Given the description of an element on the screen output the (x, y) to click on. 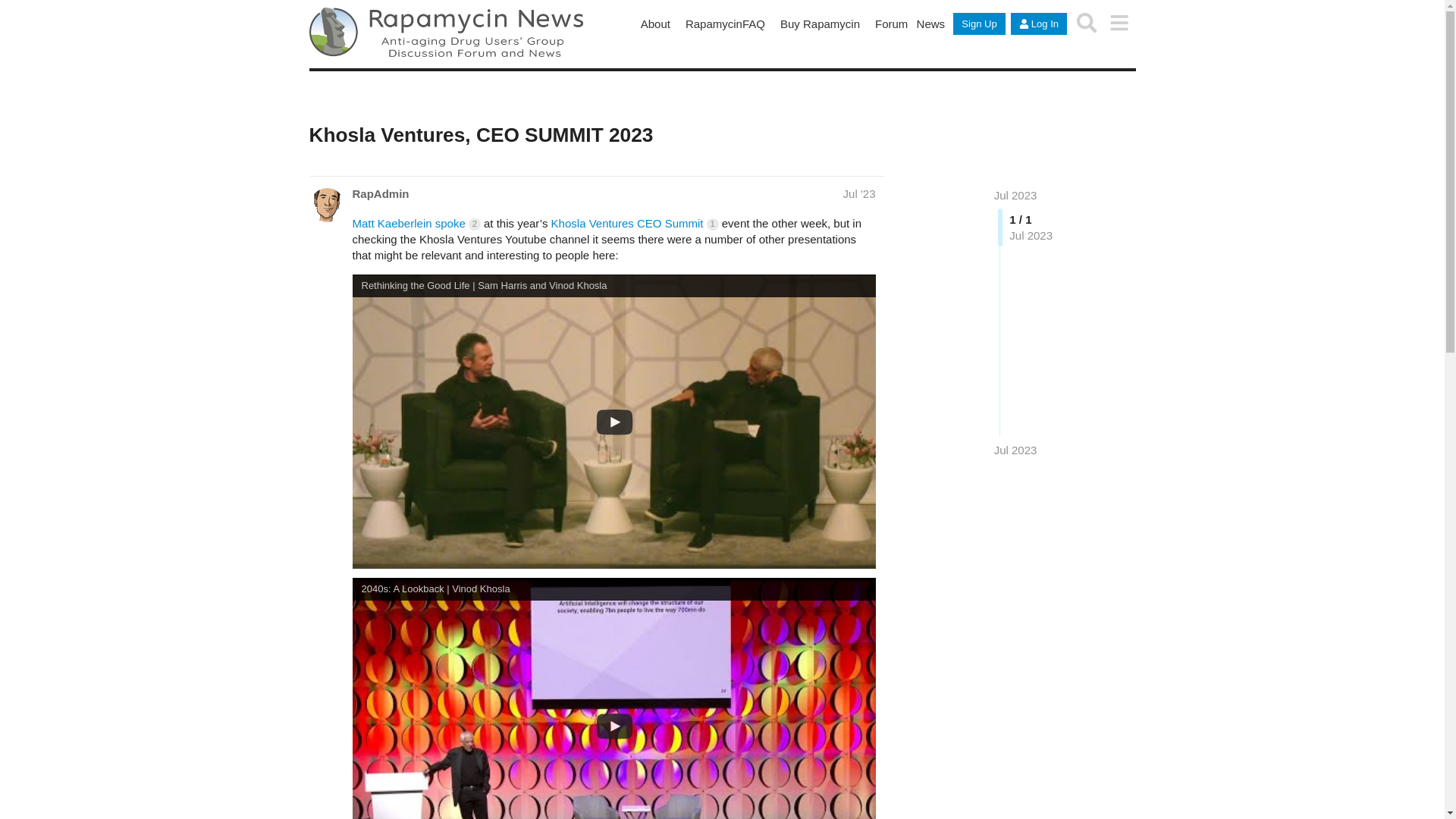
RapAdmin (380, 193)
Forum (891, 24)
Buy Rapamycin (820, 24)
News (929, 23)
News (929, 23)
Jul 2023 (1015, 449)
Jul 2023 (1015, 195)
Khosla Ventures, CEO SUMMIT 2023 (480, 133)
Forum (891, 24)
RapamycinFAQ (725, 24)
Matt Kaeberlein spoke 2 (416, 223)
Jul 2023 (1015, 449)
Post date (859, 193)
Sign Up (978, 24)
Buy Rapamycin (820, 24)
